Given the description of an element on the screen output the (x, y) to click on. 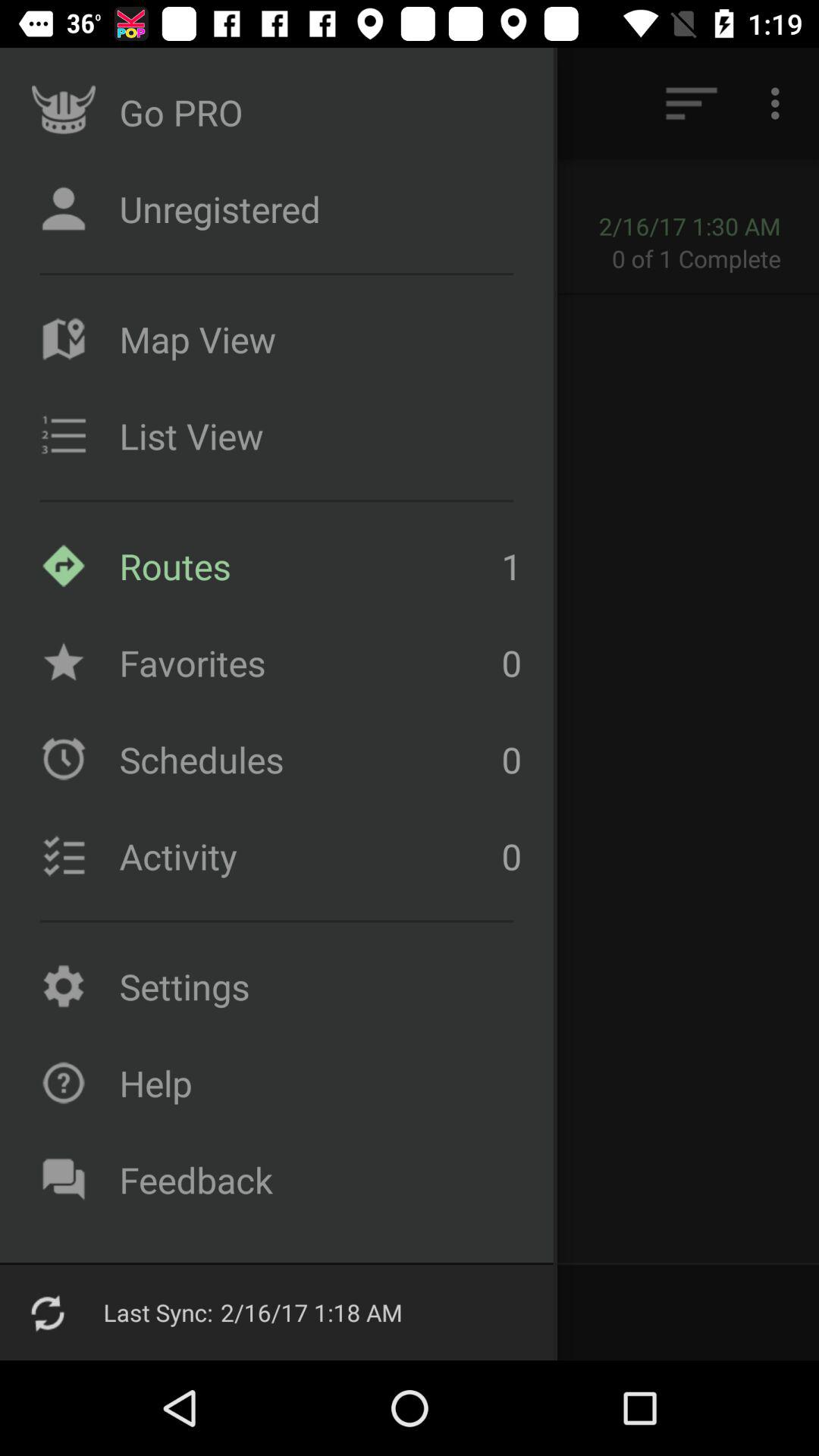
launch map view item (316, 338)
